Given the description of an element on the screen output the (x, y) to click on. 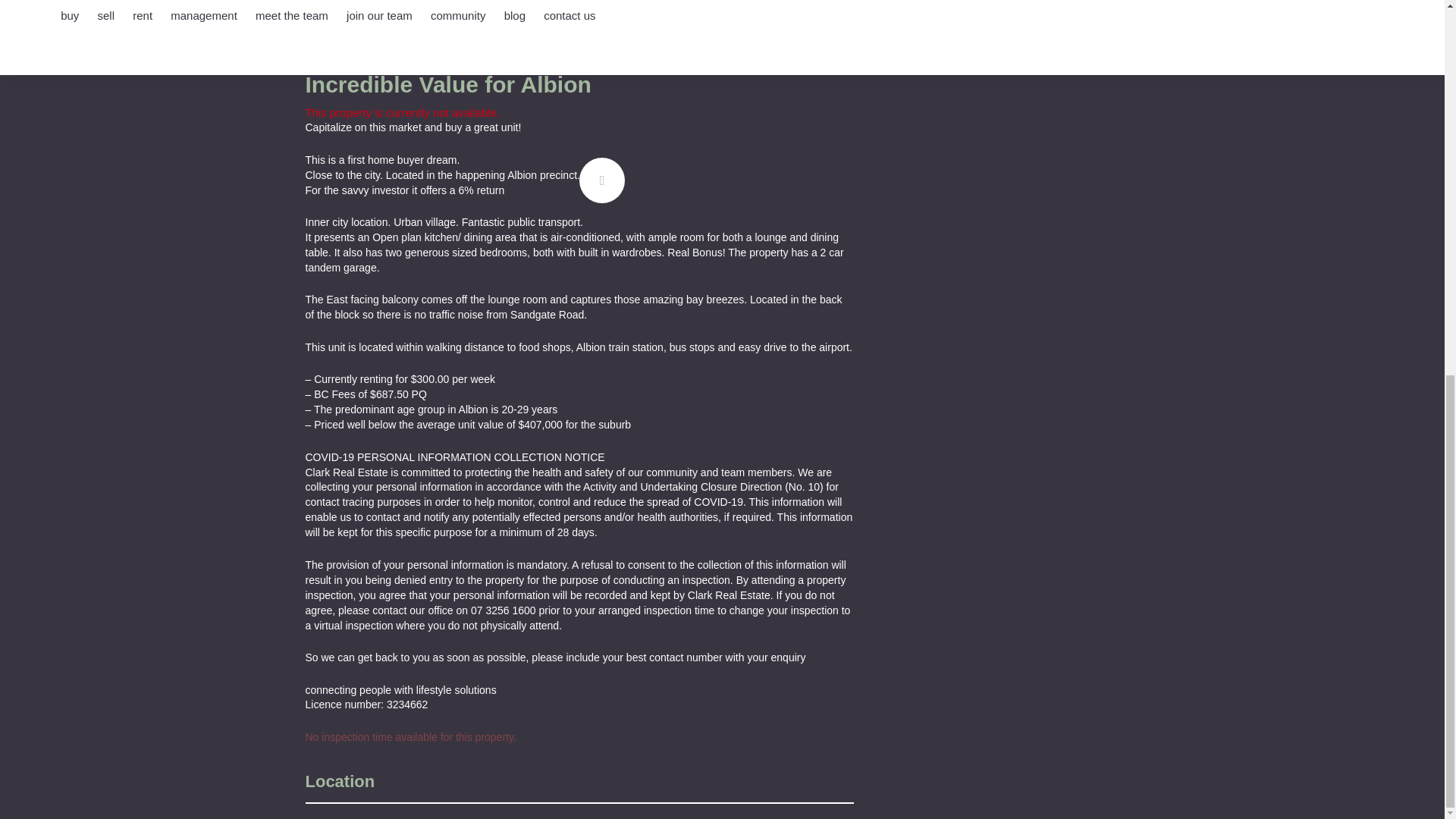
Baths (350, 26)
Beds (325, 26)
Parking (374, 26)
